Given the description of an element on the screen output the (x, y) to click on. 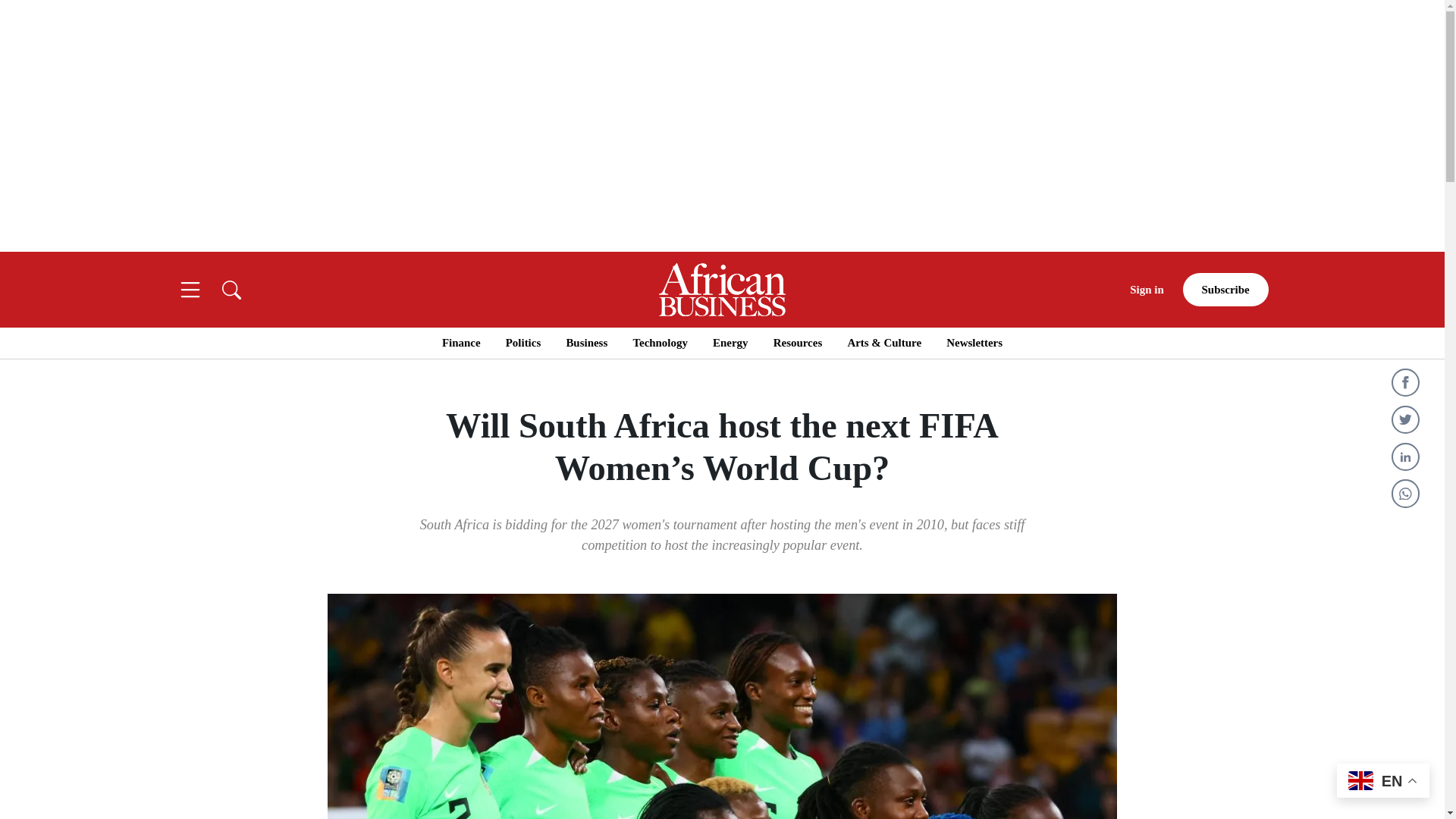
Energy (730, 342)
Sign in (1146, 289)
Subscribe (1225, 289)
Politics (522, 342)
Resources (797, 342)
Technology (659, 342)
Finance (461, 342)
Business (586, 342)
Newsletters (974, 342)
